Given the description of an element on the screen output the (x, y) to click on. 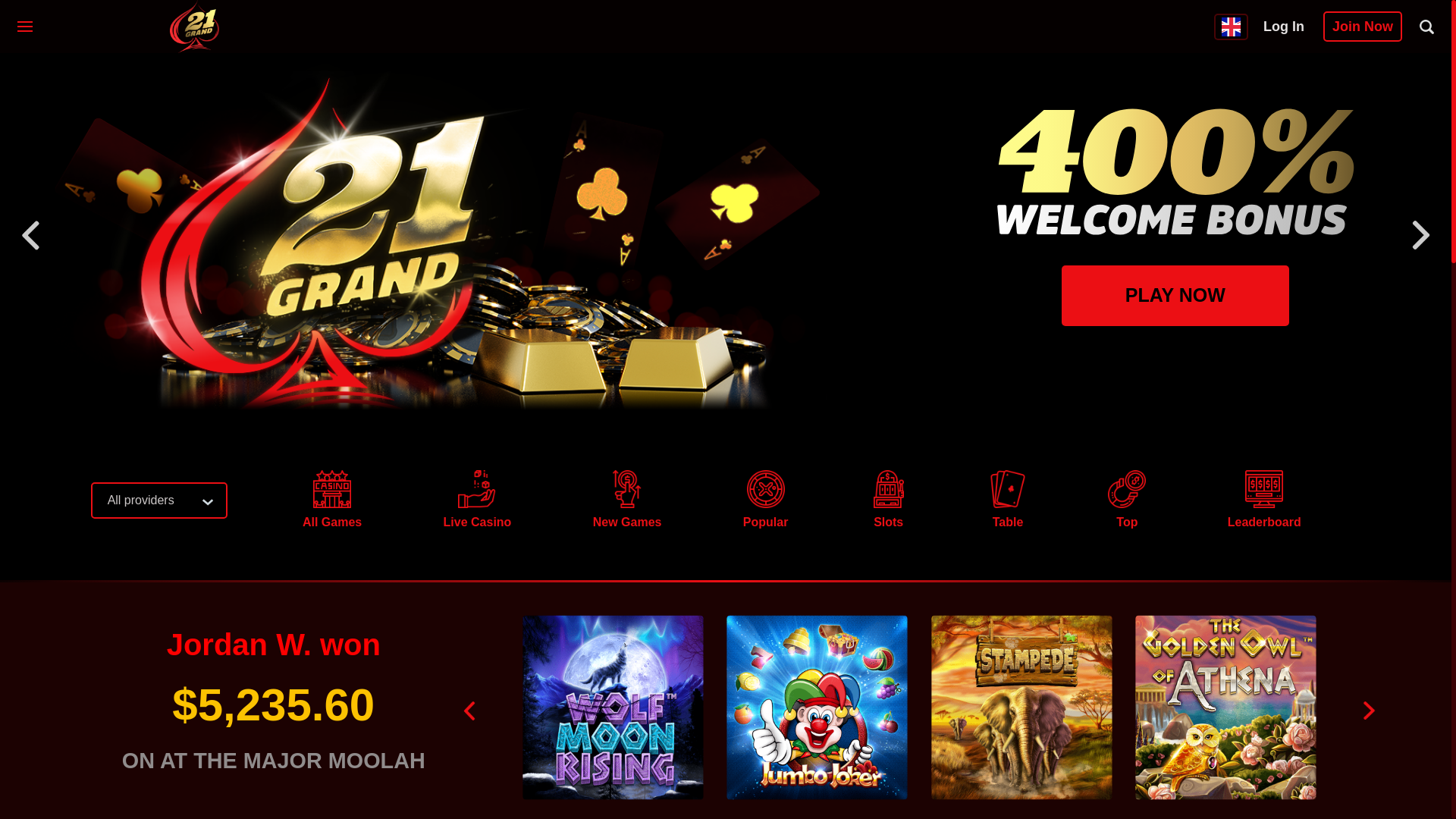
Join Now Element type: text (1362, 26)
PLAY NOW Element type: text (1175, 295)
Log In Element type: text (1283, 26)
